Given the description of an element on the screen output the (x, y) to click on. 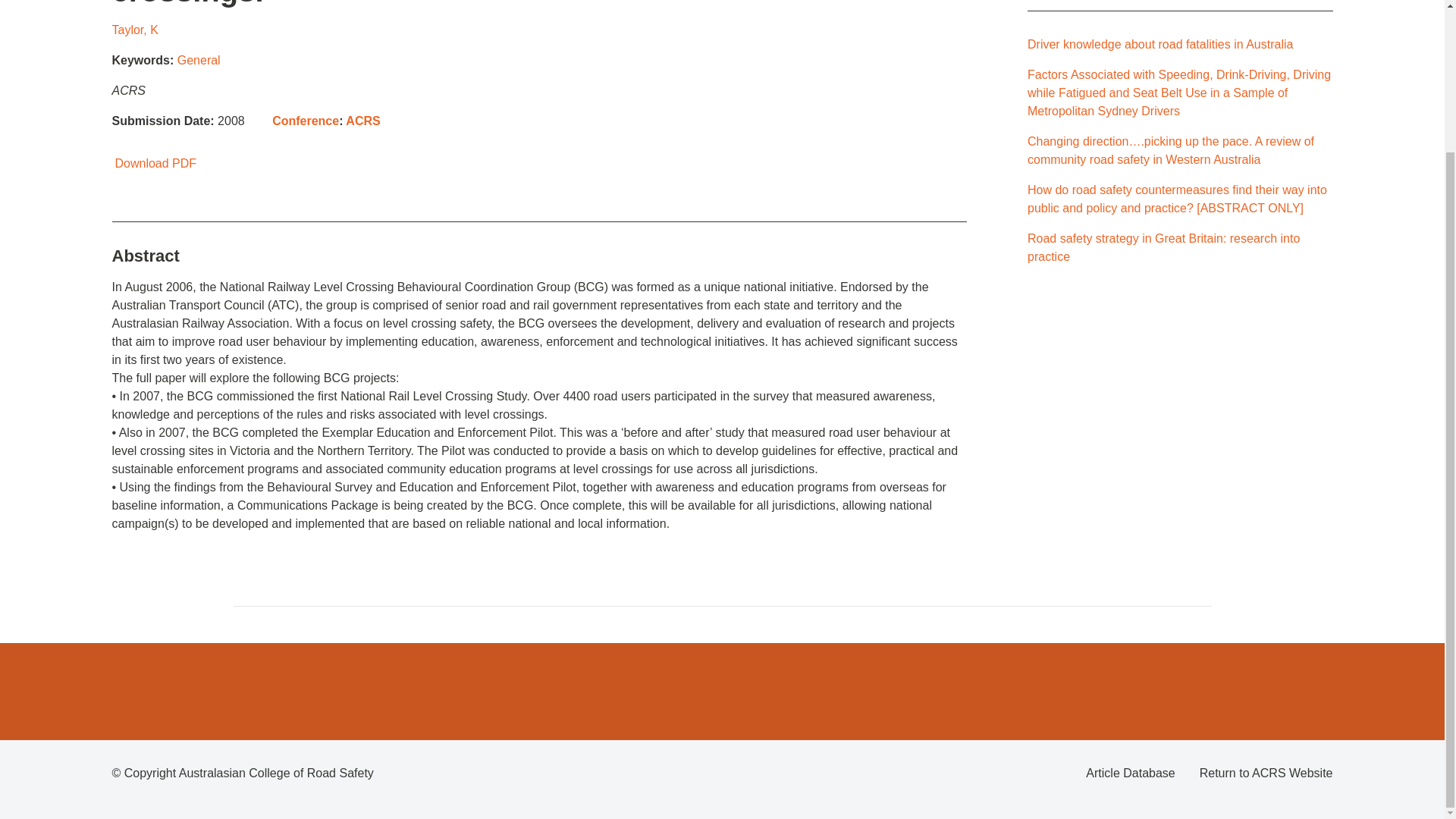
Return to ACRS Website (1266, 773)
Driver knowledge about road fatalities in Australia (1159, 43)
Taylor, K (135, 29)
Australasian College of Road Safety (276, 772)
General (199, 60)
Download PDF (154, 163)
Conference (305, 120)
Article Database (1130, 773)
ACRS (363, 120)
